Given the description of an element on the screen output the (x, y) to click on. 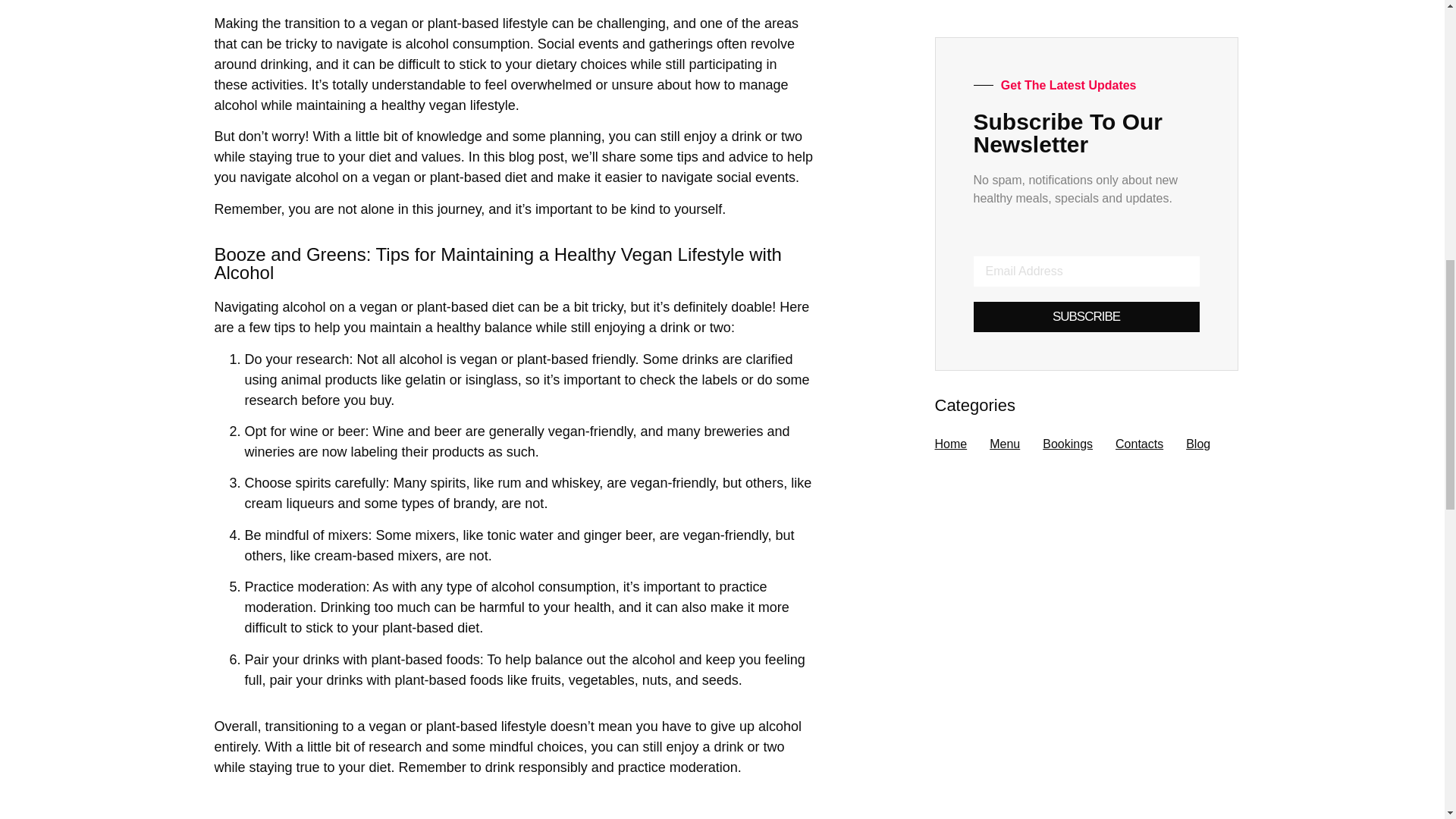
Contacts (1139, 444)
Bookings (1067, 444)
SUBSCRIBE (1086, 317)
Home (950, 444)
Menu (1005, 444)
